Given the description of an element on the screen output the (x, y) to click on. 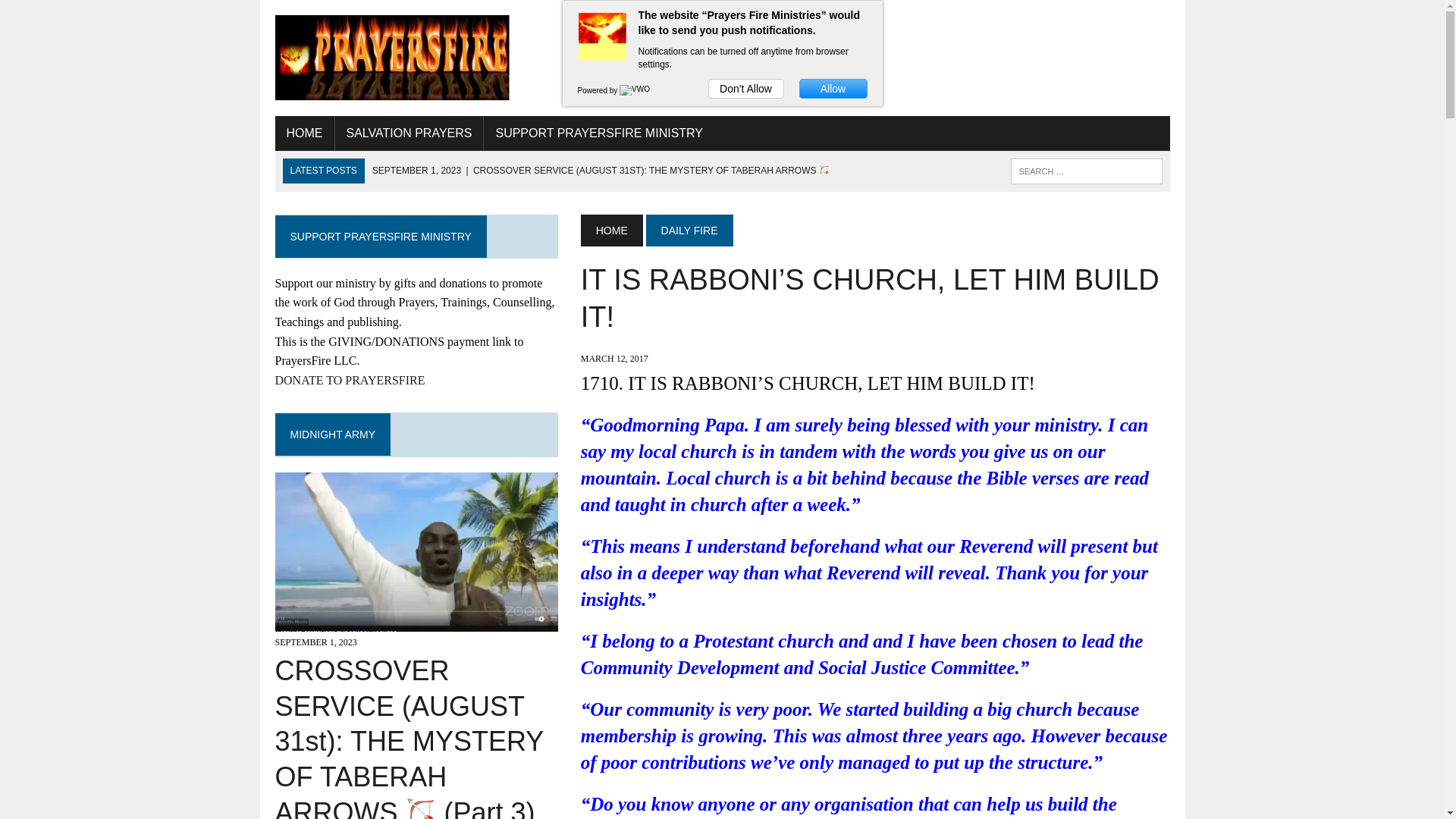
Search (75, 14)
SALVATION PRAYERS (408, 133)
PRAYERS FIRE (722, 57)
DAILY FIRE (689, 230)
HOME (304, 133)
SUPPORT PRAYERSFIRE MINISTRY (598, 133)
HOME (611, 230)
